Given the description of an element on the screen output the (x, y) to click on. 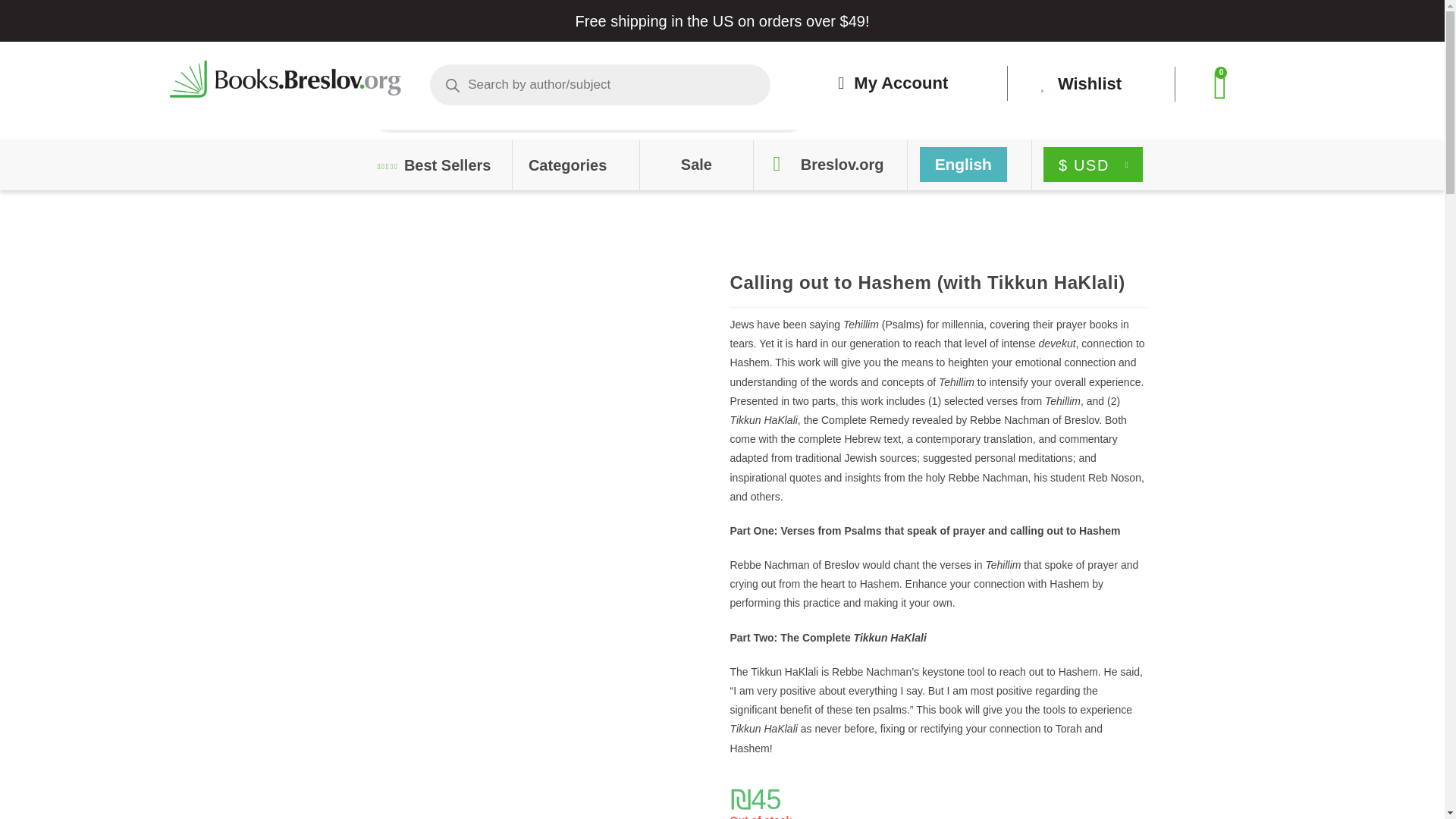
My Account (892, 83)
0 (1219, 85)
Wishlist (1081, 83)
